Given the description of an element on the screen output the (x, y) to click on. 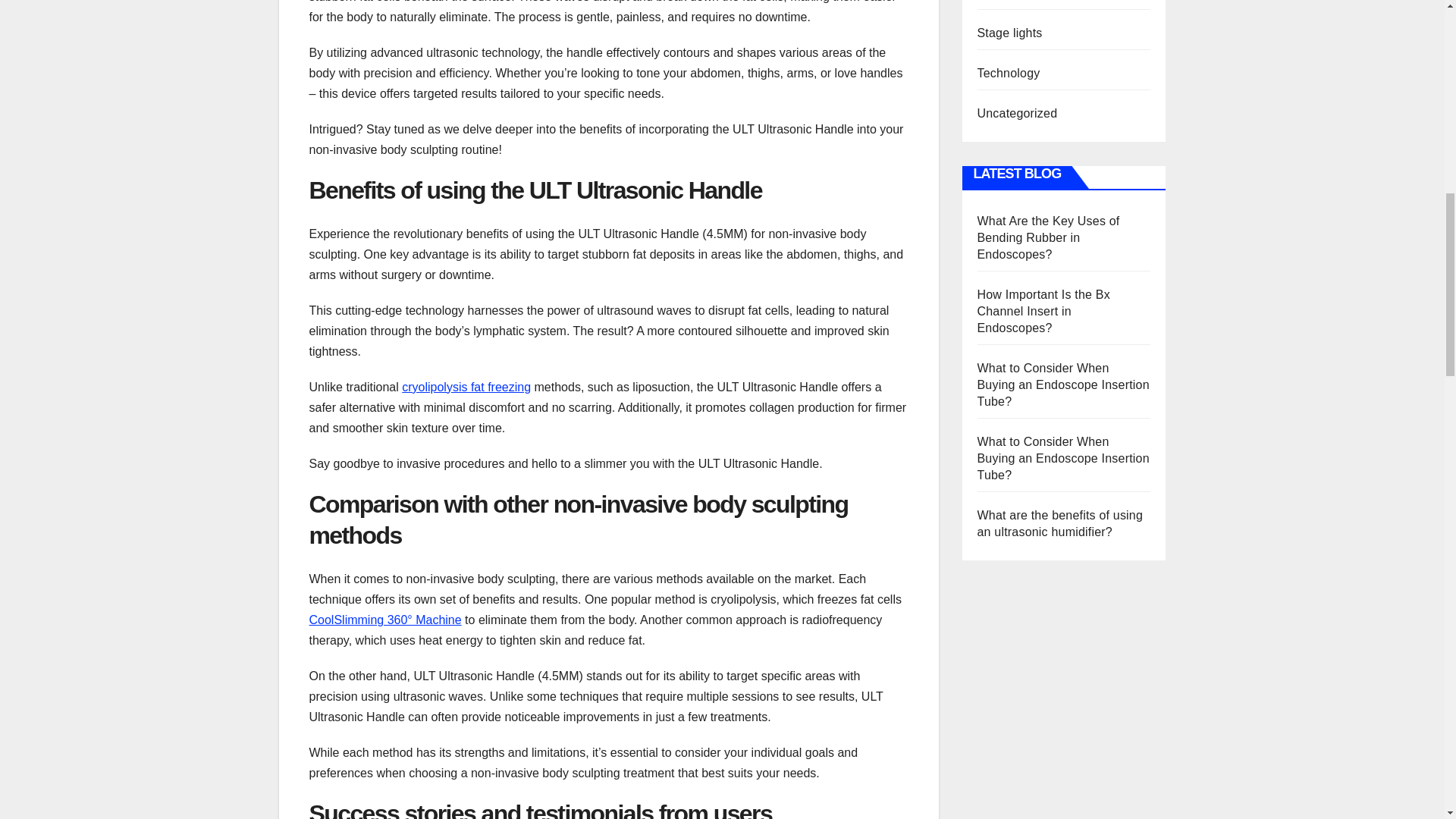
cryolipolysis fat freezing (466, 386)
